Given the description of an element on the screen output the (x, y) to click on. 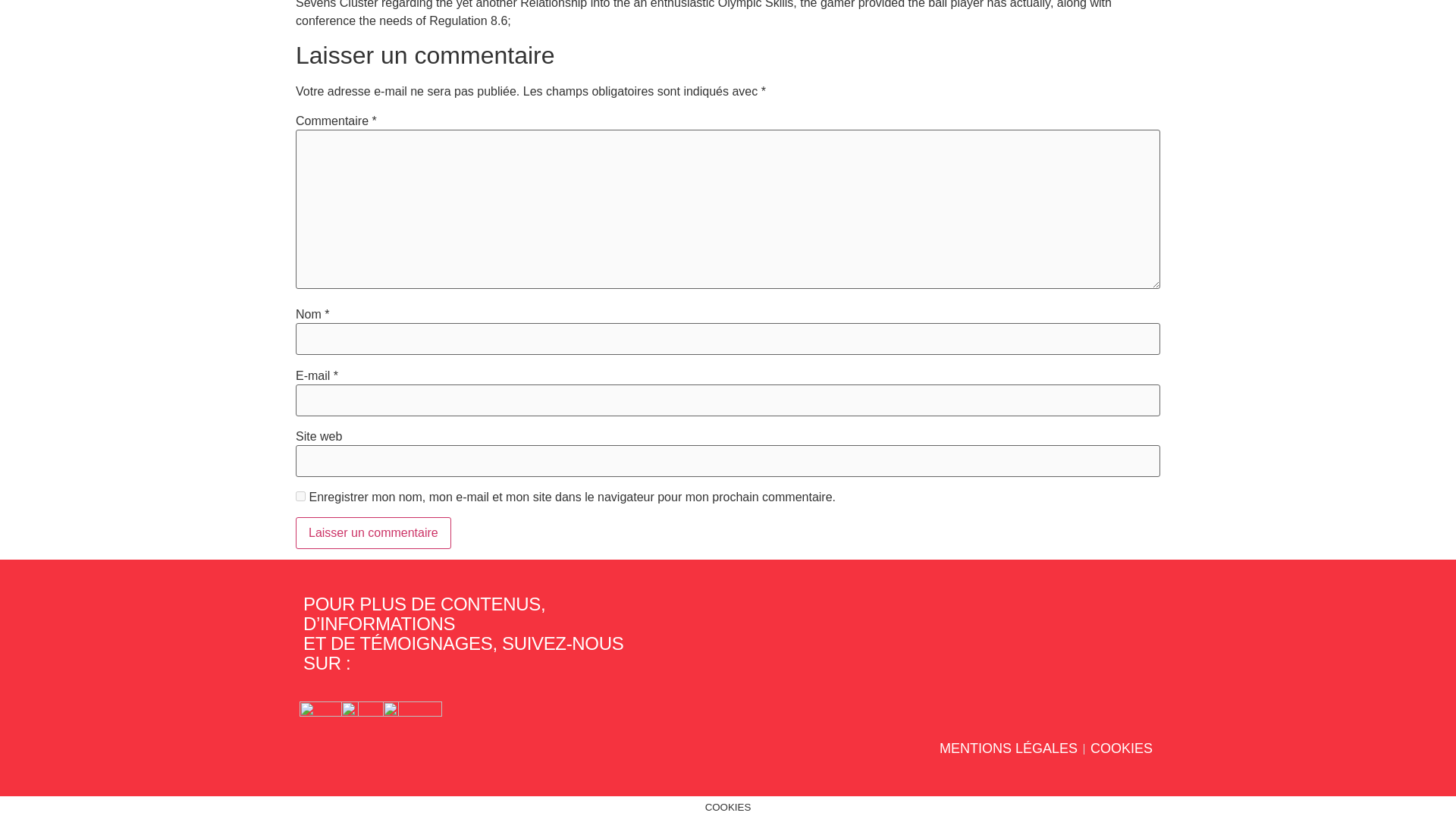
Laisser un commentaire (373, 532)
Laisser un commentaire (373, 532)
yes (300, 496)
COOKIES (1121, 748)
